Given the description of an element on the screen output the (x, y) to click on. 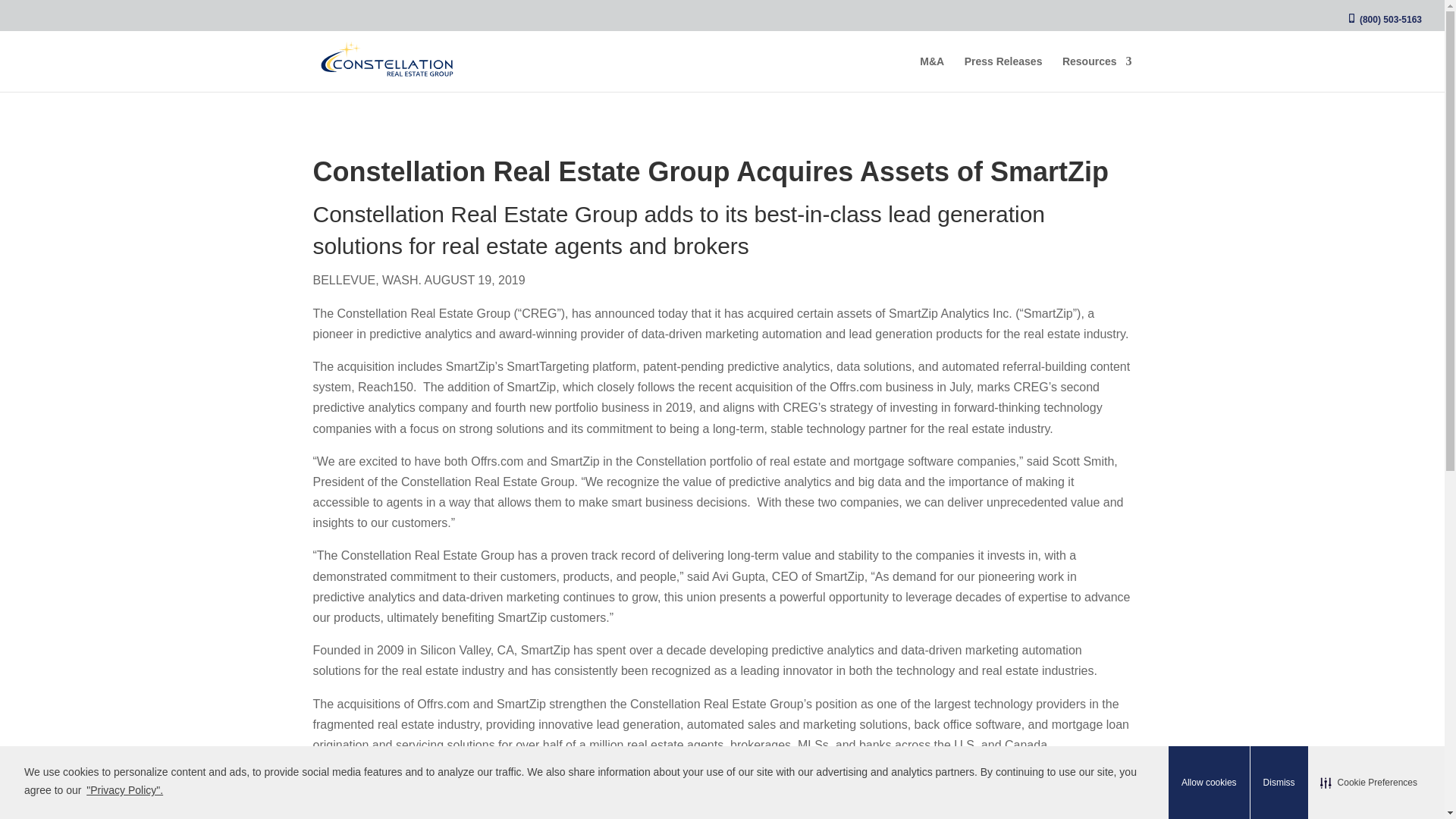
Press Releases (1002, 73)
Resources (1097, 73)
Offrs.com (972, 816)
"Privacy Policy". (124, 790)
Allow cookies (1209, 782)
Cookie Preferences (1369, 782)
